Given the description of an element on the screen output the (x, y) to click on. 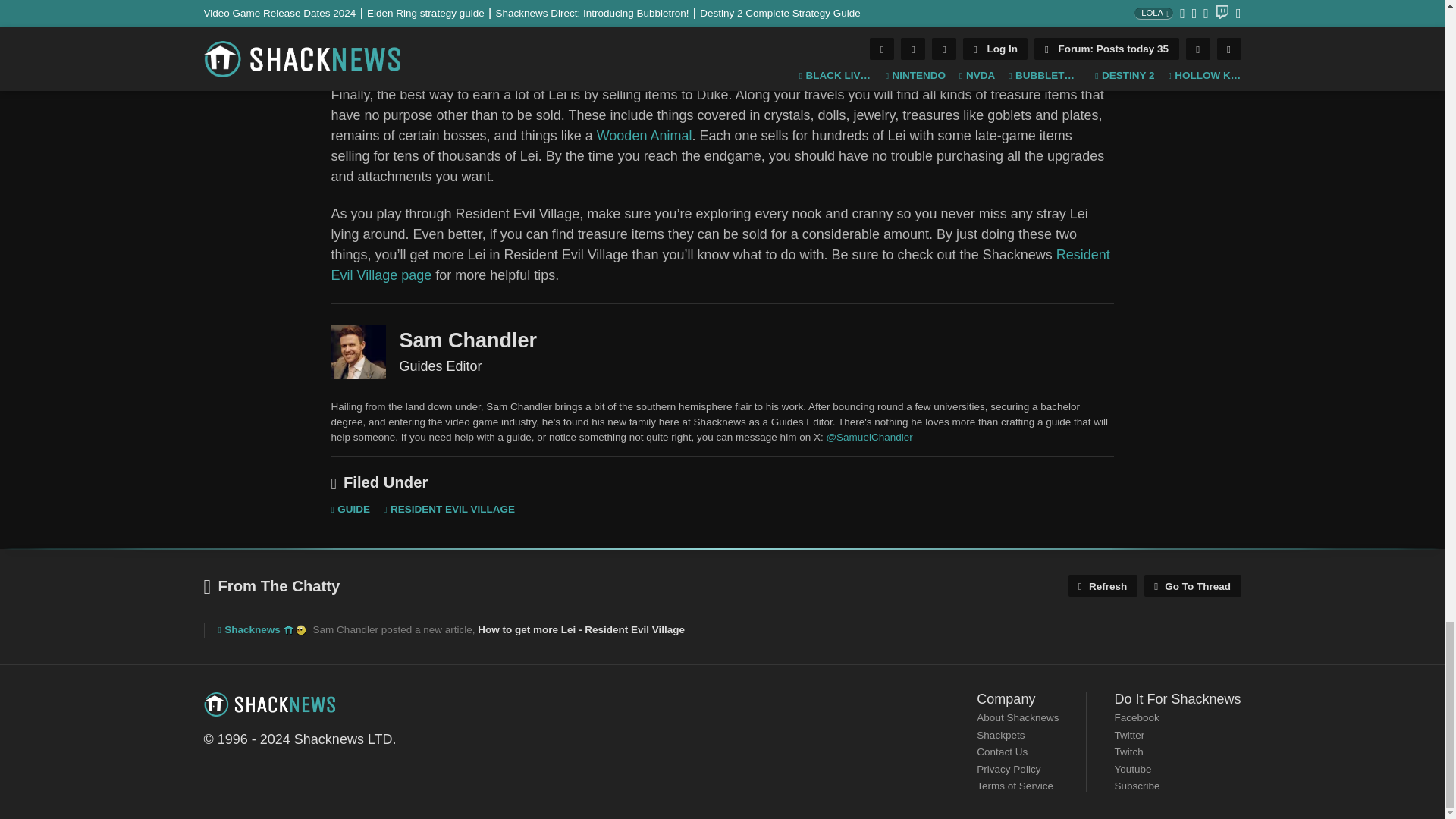
legacy 20 years (300, 629)
resident evil village lei (722, 32)
Guides Editor (357, 351)
legacy 10 years (288, 629)
